Given the description of an element on the screen output the (x, y) to click on. 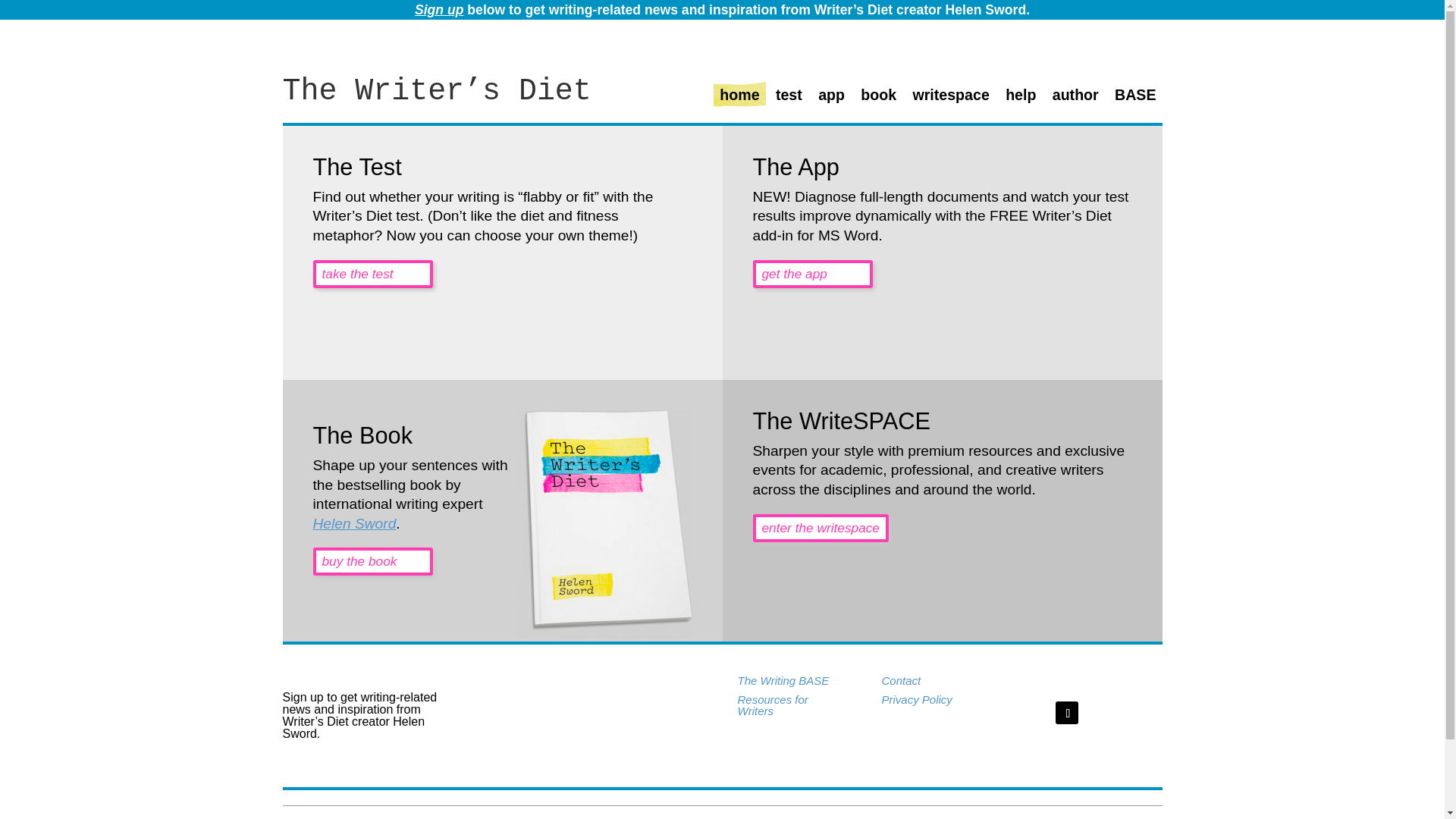
get the app (812, 274)
buy the book (372, 561)
BASE (1135, 100)
geoPlugin (1138, 818)
Sign up (439, 9)
writespace (950, 100)
IP Geolocation (1066, 818)
enter the writespace (820, 528)
Follow on X (1066, 712)
book (878, 100)
Contact (900, 680)
take the test (372, 274)
Helen Sword (354, 523)
home (738, 100)
author (1075, 100)
